Given the description of an element on the screen output the (x, y) to click on. 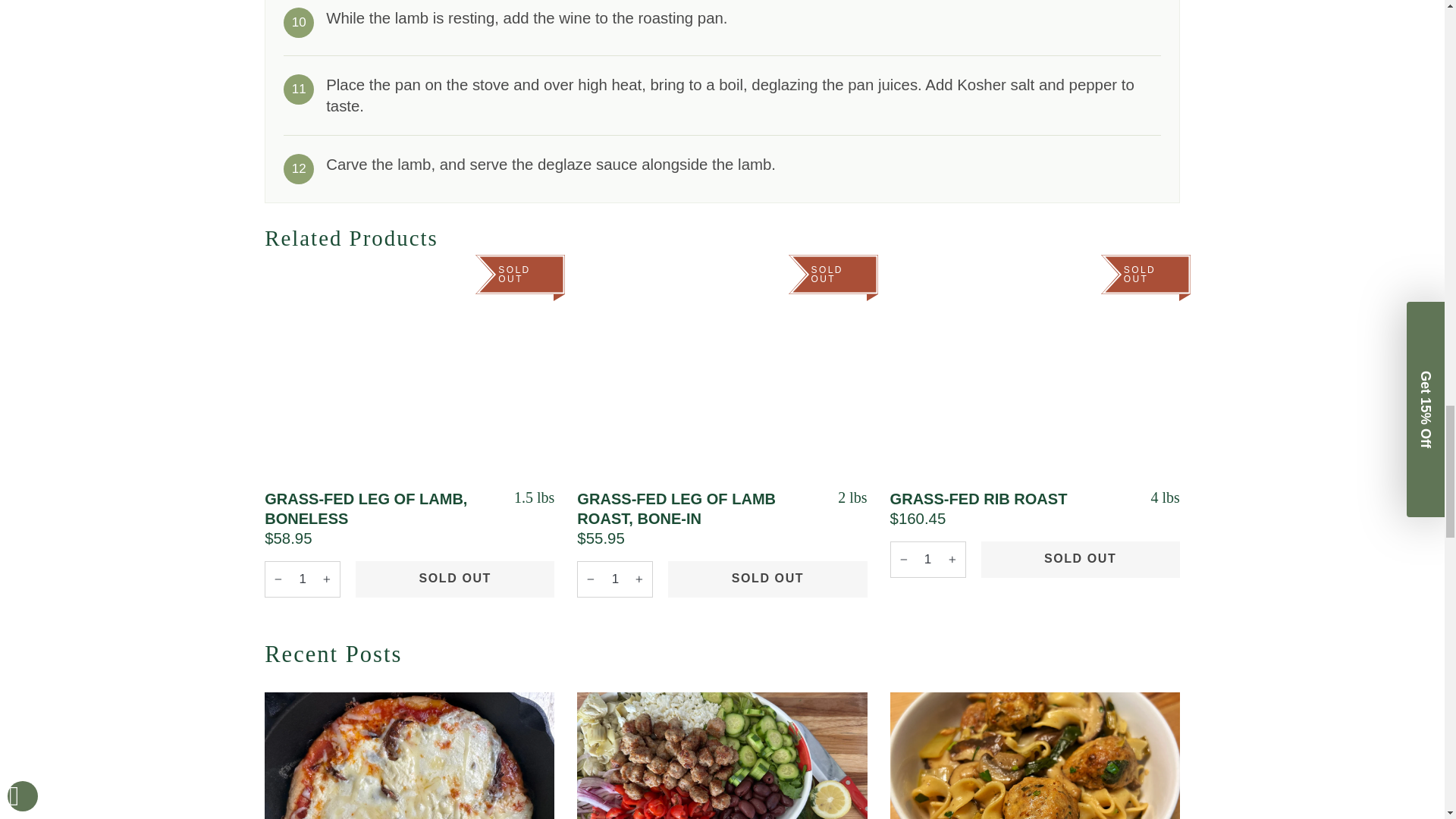
1 (302, 579)
1 (927, 559)
1 (614, 579)
